Given the description of an element on the screen output the (x, y) to click on. 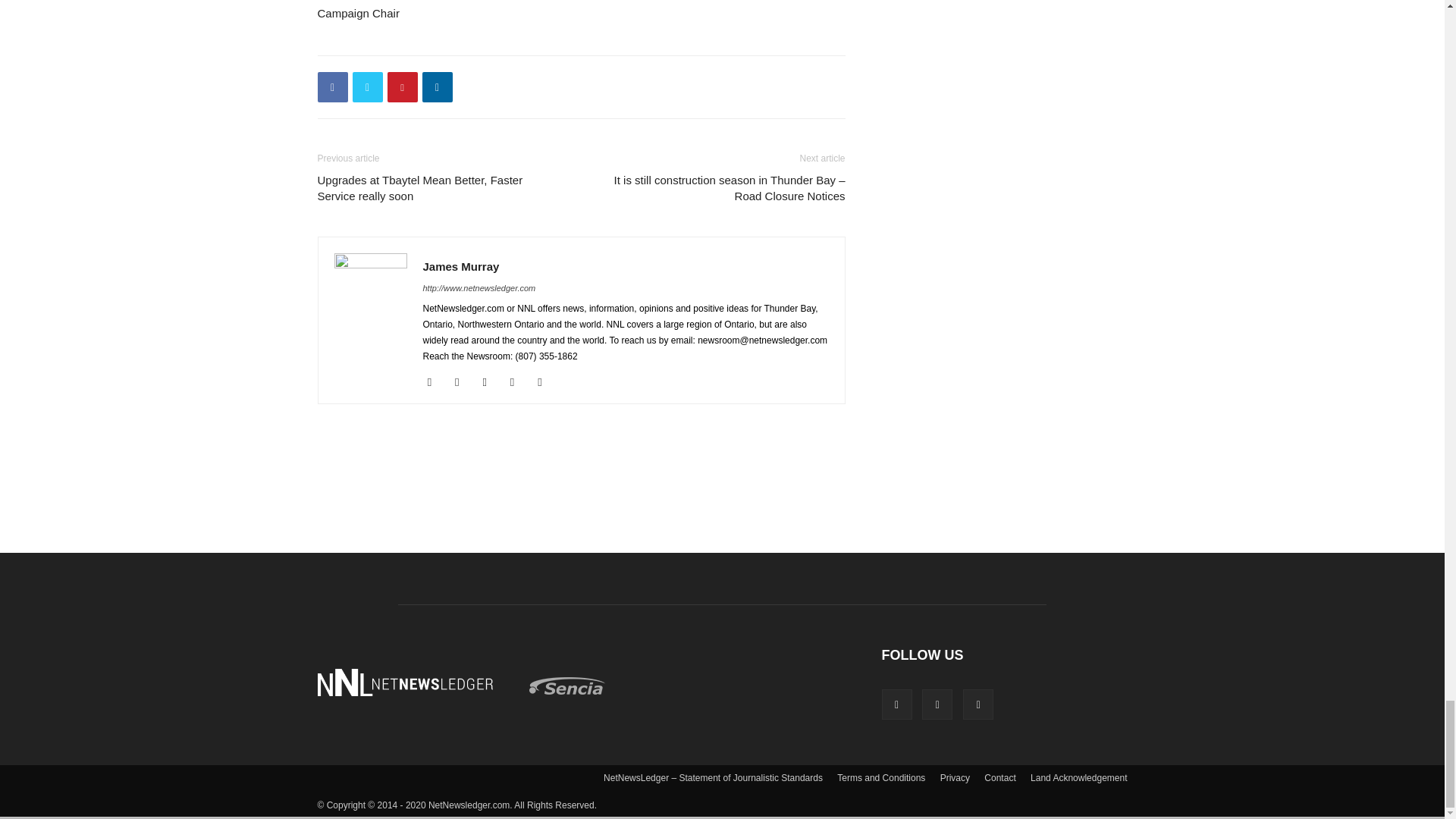
Twitter (366, 87)
Pinterest (401, 87)
Facebook (332, 87)
Linkedin (436, 87)
